Given the description of an element on the screen output the (x, y) to click on. 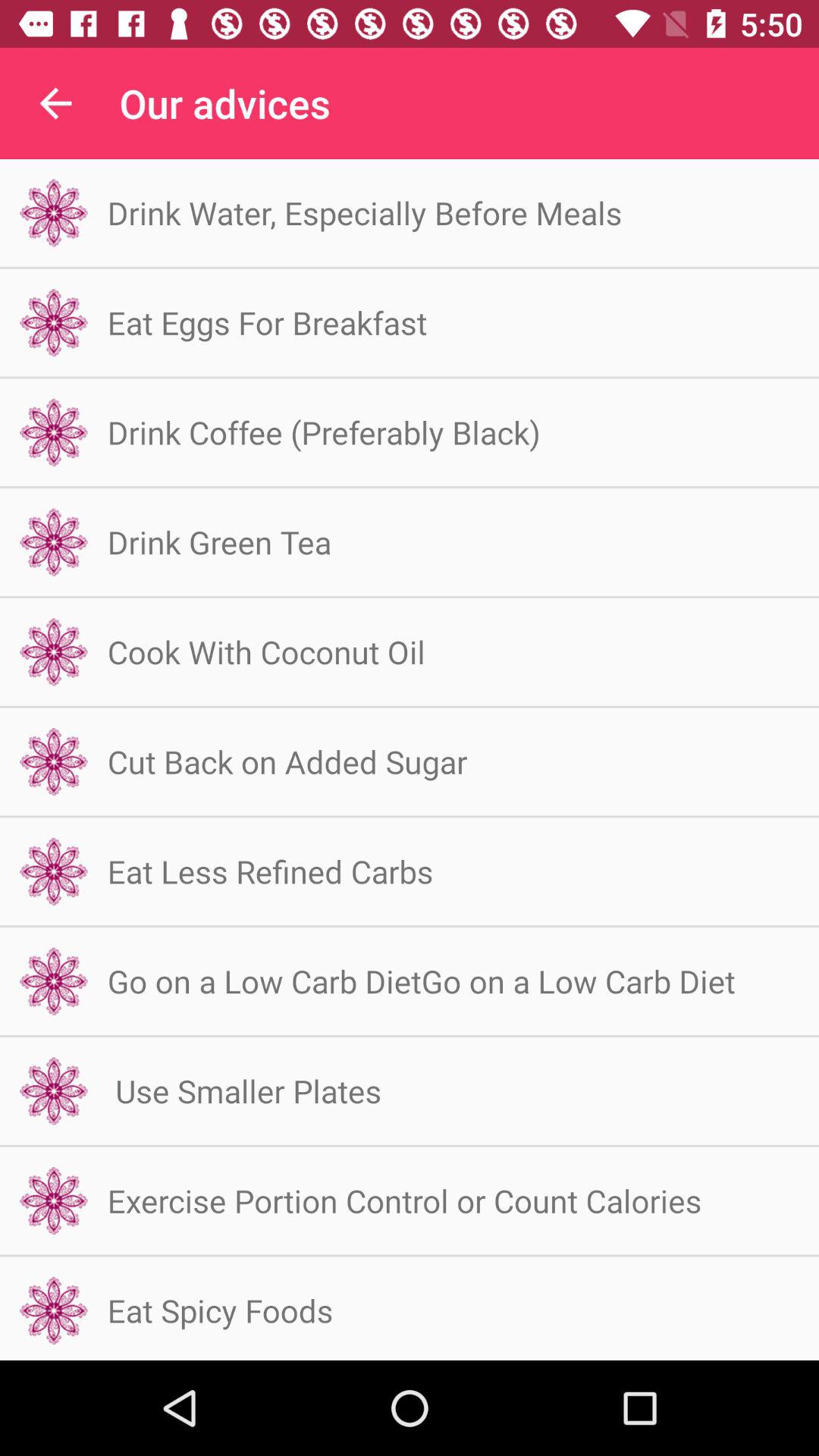
select icon below go on a (244, 1090)
